Given the description of an element on the screen output the (x, y) to click on. 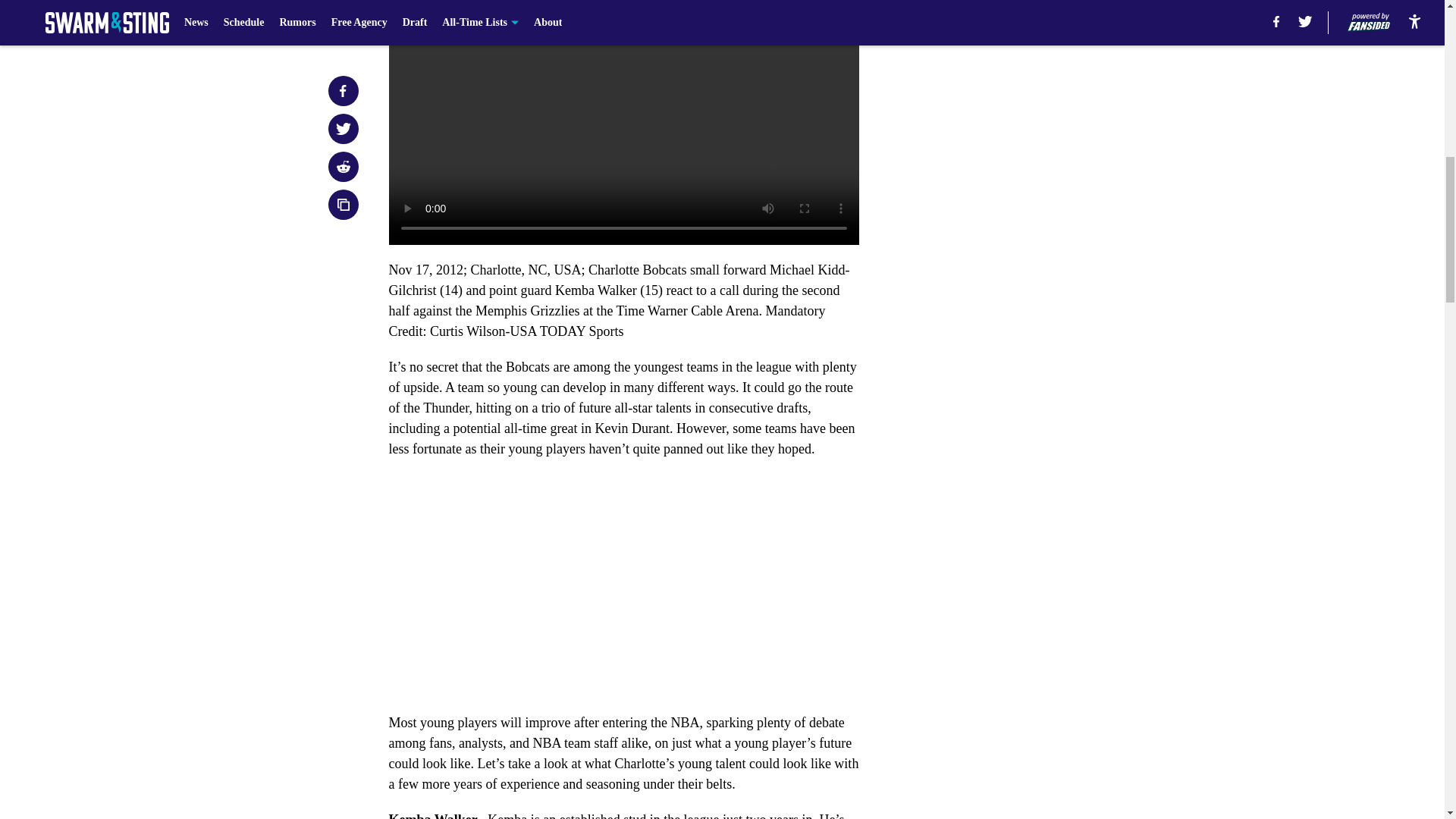
3rd party ad content (1047, 84)
3rd party ad content (1047, 294)
